Given the description of an element on the screen output the (x, y) to click on. 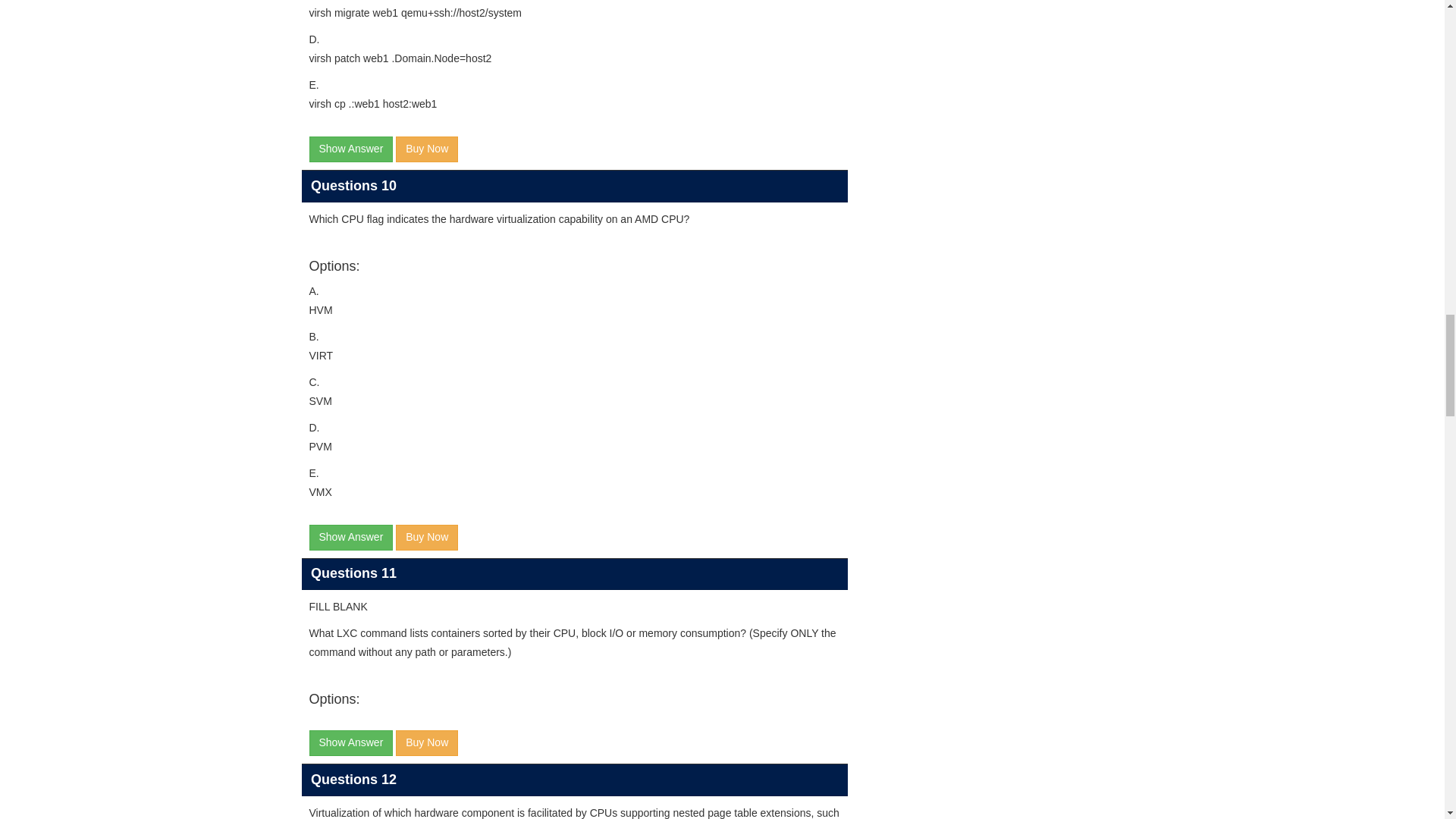
Show Answer (350, 149)
